Given the description of an element on the screen output the (x, y) to click on. 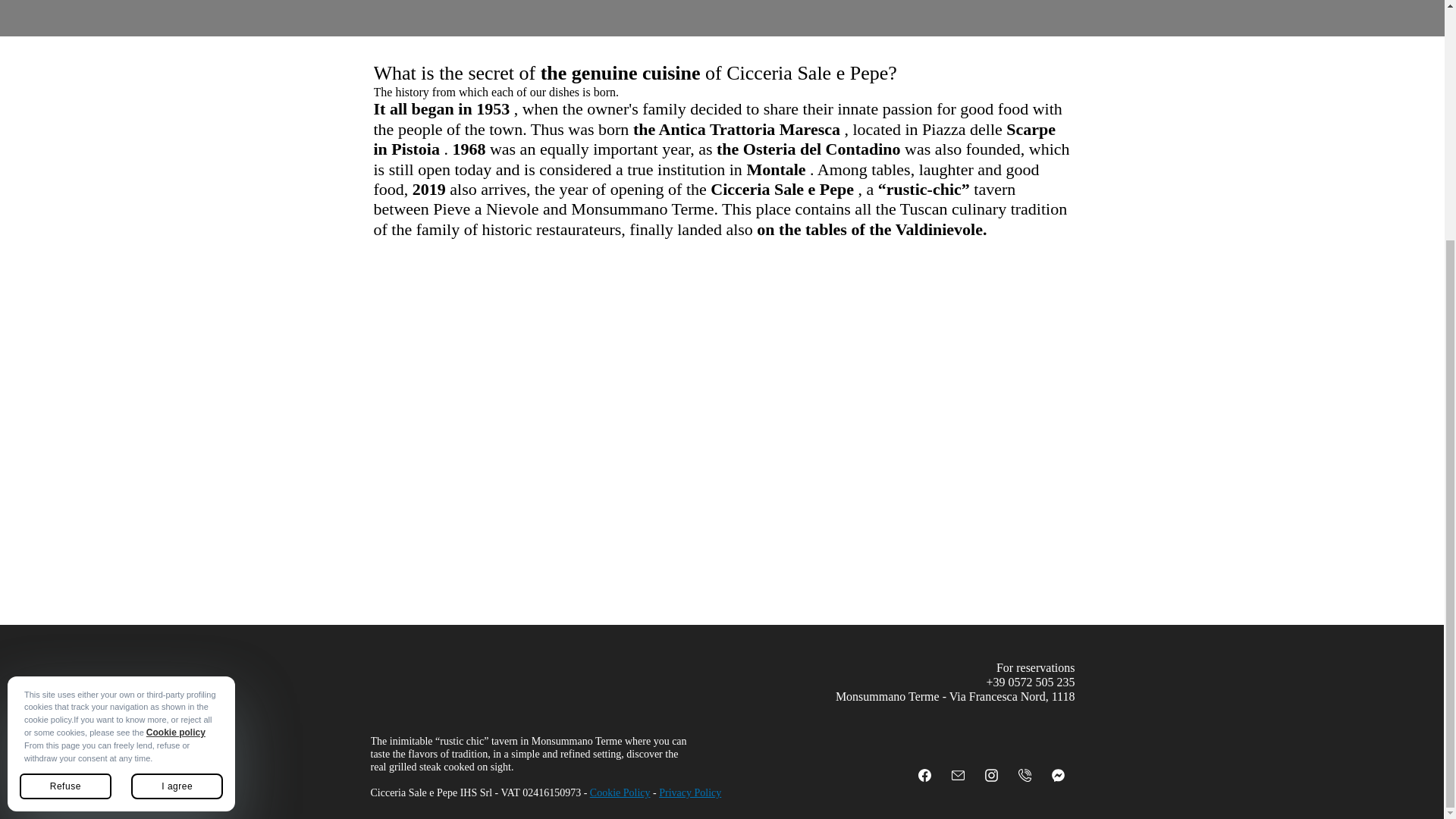
Cookie Policy (619, 793)
Privacy Policy (689, 793)
Cookie policy (176, 400)
